Given the description of an element on the screen output the (x, y) to click on. 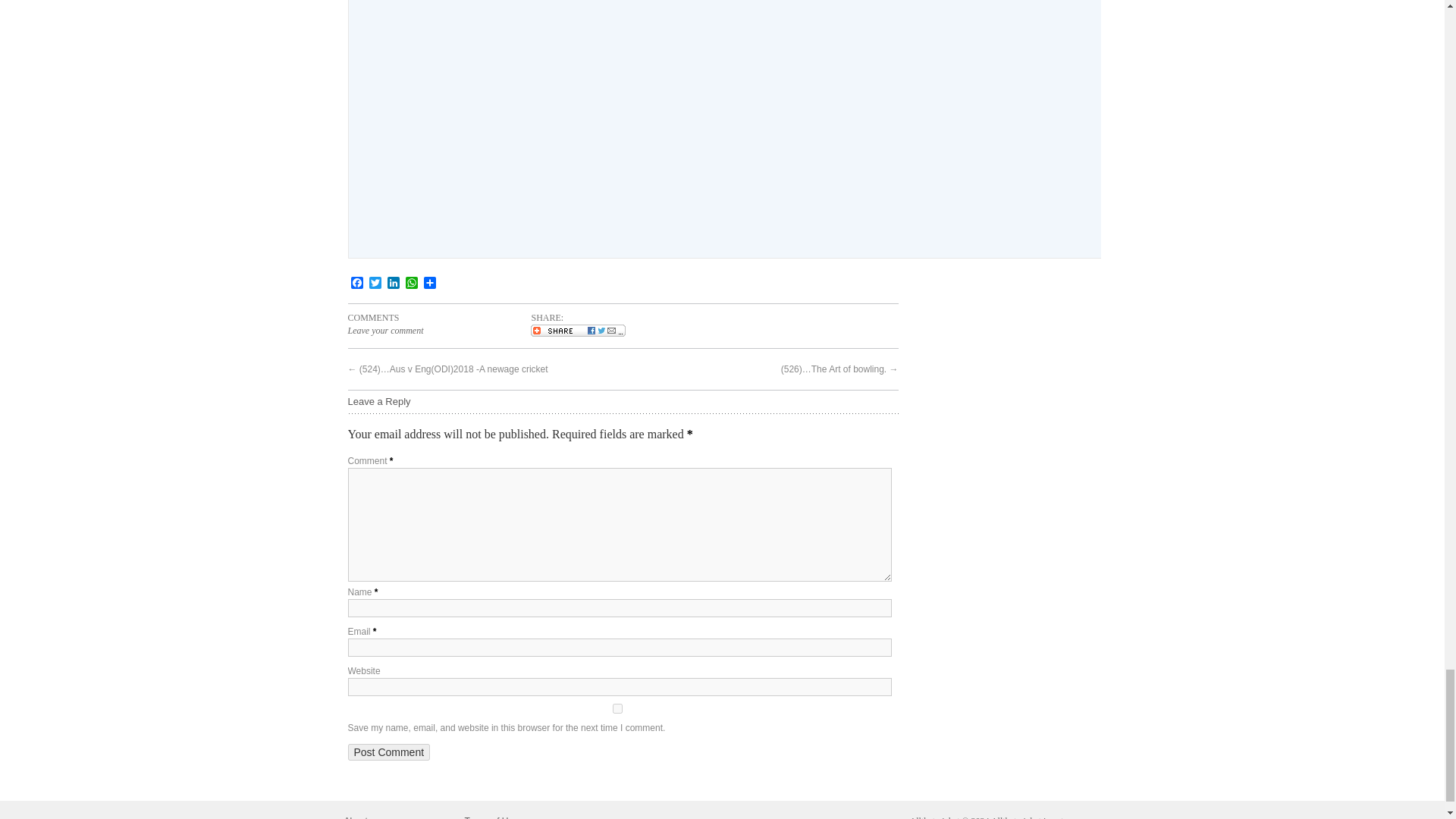
WhatsApp (410, 283)
Post Comment (388, 751)
yes (616, 708)
Facebook (356, 283)
Twitter (374, 283)
LinkedIn (392, 283)
